Given the description of an element on the screen output the (x, y) to click on. 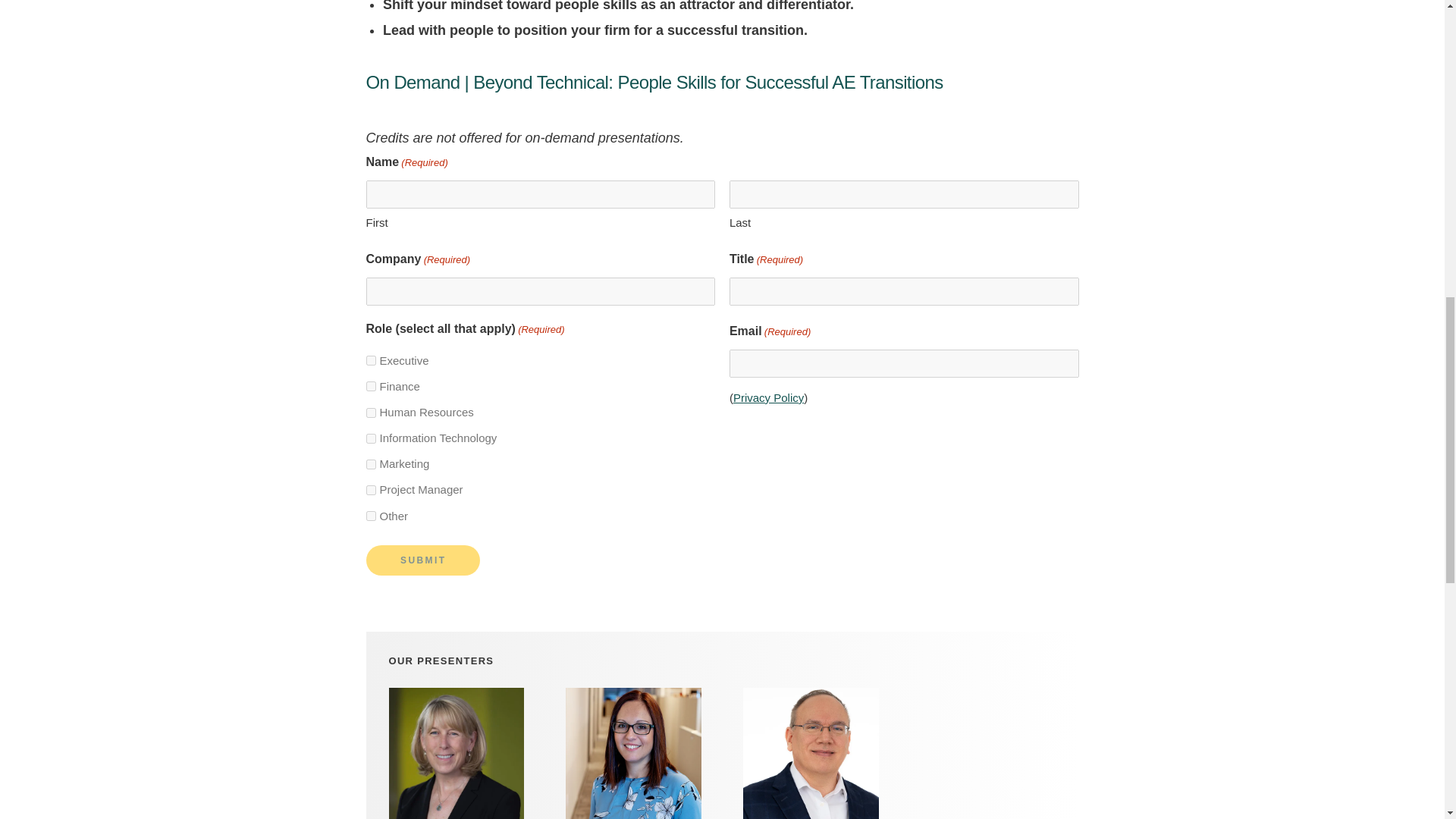
Marketing (370, 464)
Executive (370, 360)
Other (370, 515)
Project Manager (370, 490)
Finance (370, 386)
Information Technology (370, 438)
Human Resources (370, 412)
